Given the description of an element on the screen output the (x, y) to click on. 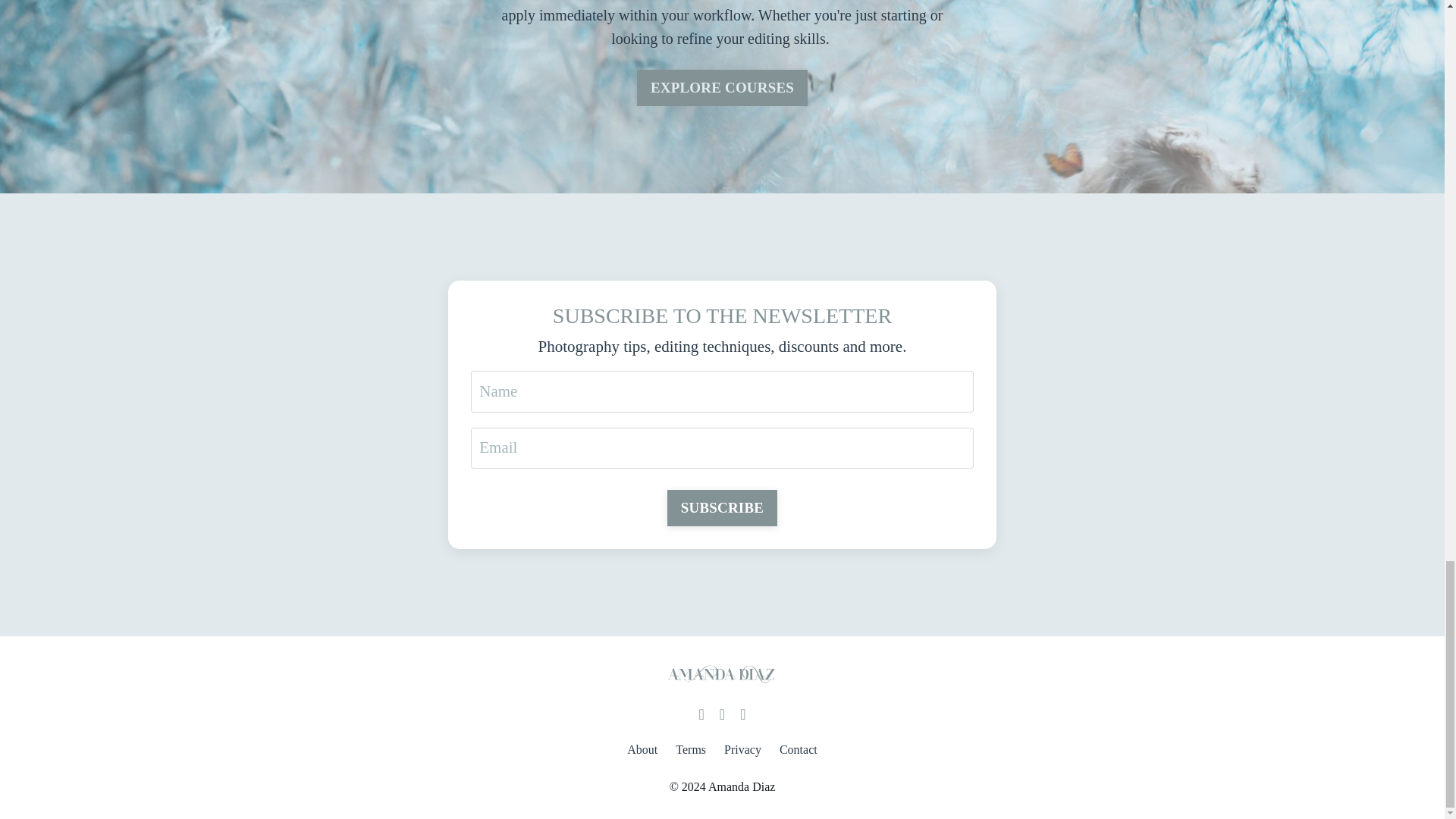
Contact (797, 748)
Terms (690, 748)
SUBSCRIBE (721, 507)
EXPLORE COURSES (722, 87)
Privacy (742, 748)
About (642, 748)
